Given the description of an element on the screen output the (x, y) to click on. 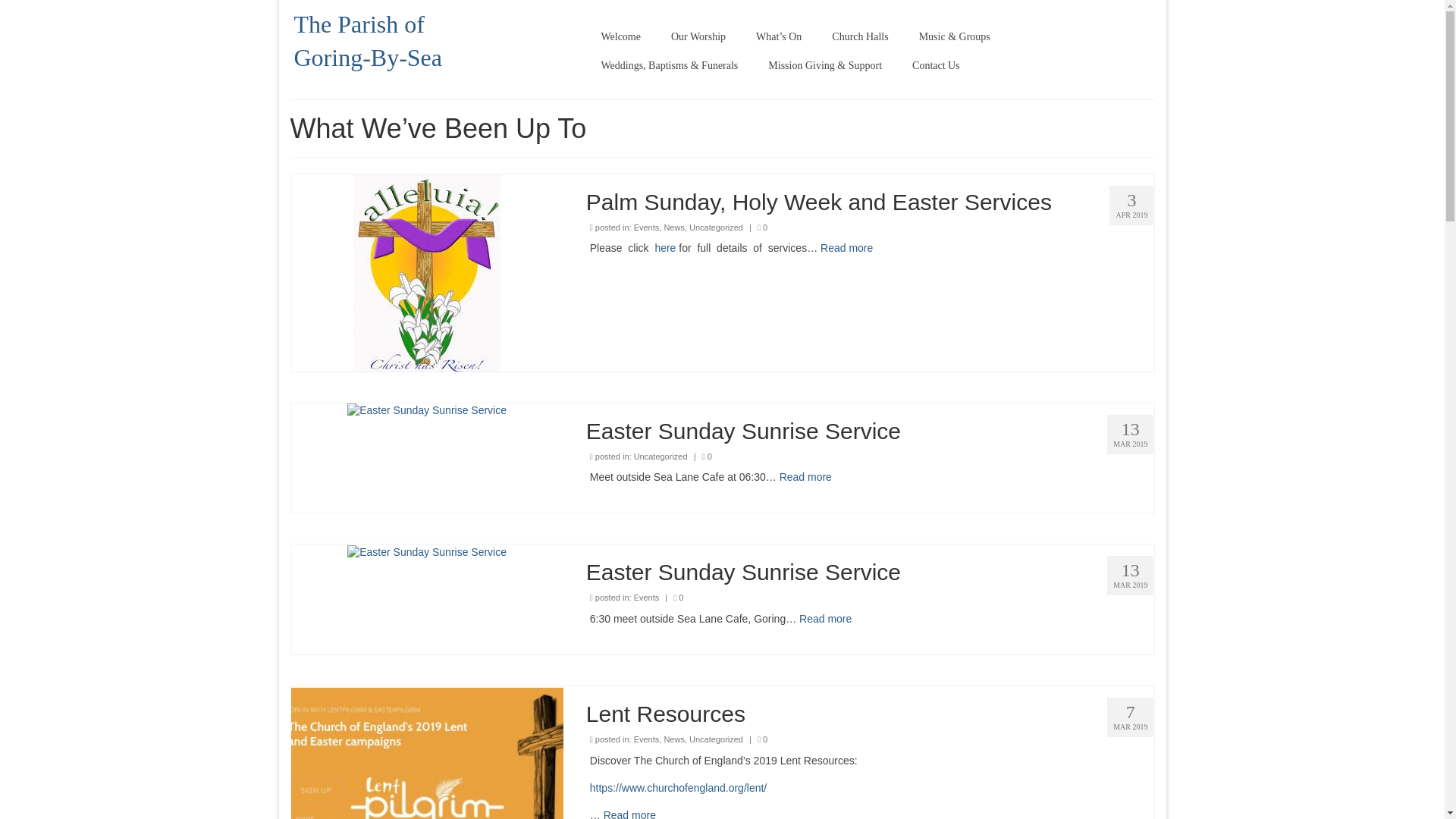
Our Worship (698, 36)
Palm Sunday, Holy Week and Easter Services (426, 271)
Welcome (620, 36)
Contact Us (935, 65)
Easter Sunday Sunrise Service (426, 551)
Church Halls (859, 36)
Easter Sunday Sunrise Service (426, 410)
Lent Resources (427, 816)
